Given the description of an element on the screen output the (x, y) to click on. 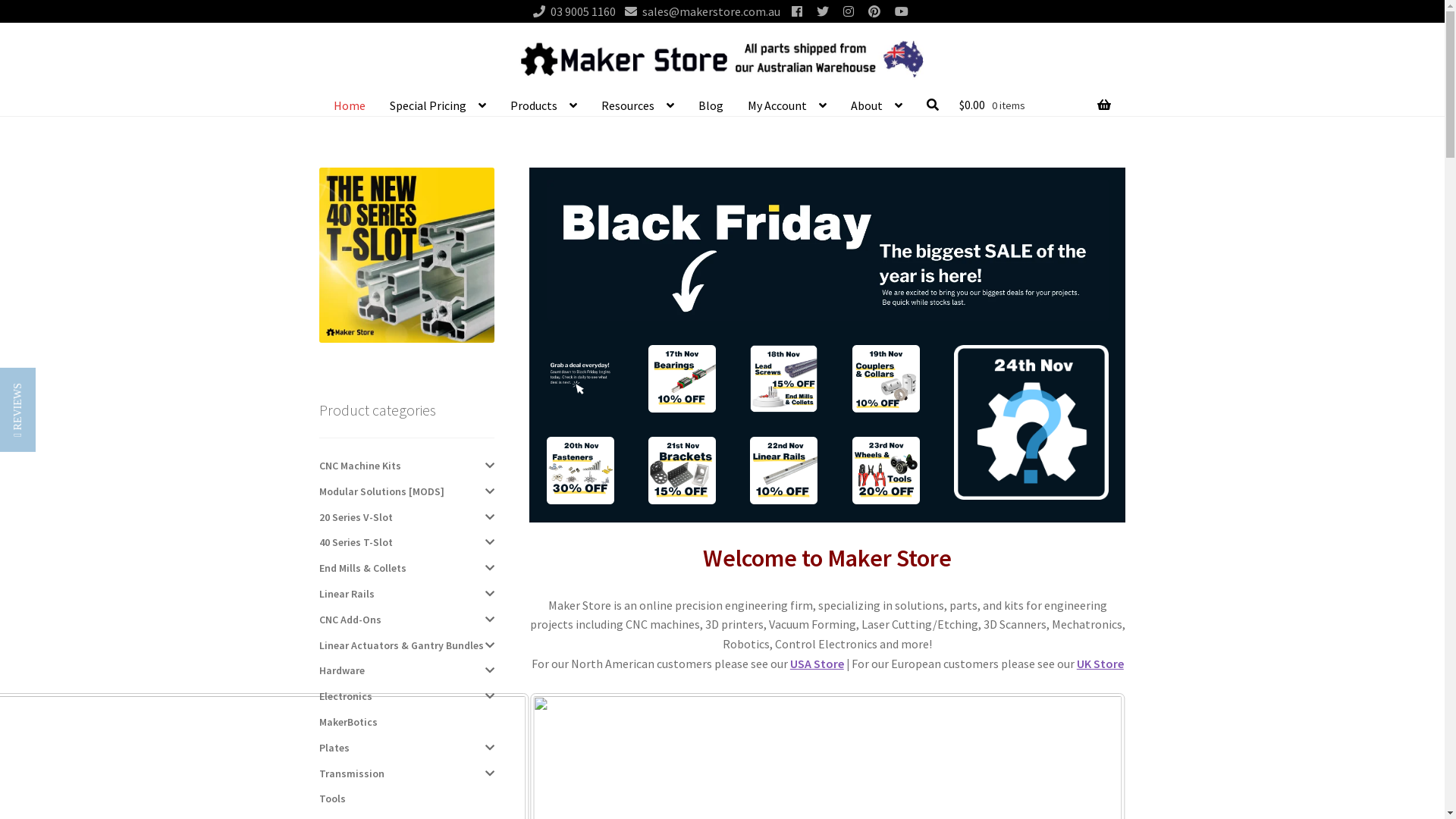
Resources Element type: text (637, 106)
UK Store Element type: text (1099, 663)
Tools Element type: text (332, 798)
Skip to navigation Element type: text (318, 34)
End Mills & Collets Element type: text (362, 567)
20 Series V-Slot Element type: text (355, 517)
Home Element type: text (349, 106)
Blog Element type: text (710, 106)
About Element type: text (876, 106)
40 Series T-Slot Element type: text (355, 542)
03 9005 1160 Element type: text (571, 10)
MakerBotics Element type: text (348, 721)
$0.00 0 items Element type: text (1034, 105)
Linear Actuators & Gantry Bundles Element type: text (401, 645)
Plates Element type: text (334, 747)
Modular Solutions [MODS] Element type: text (381, 491)
Products Element type: text (543, 106)
Linear Rails Element type: text (346, 593)
CNC Add-Ons Element type: text (350, 619)
Special Pricing Element type: text (437, 106)
My Account Element type: text (786, 106)
Hardware Element type: text (341, 670)
CNC Machine Kits Element type: text (360, 465)
sales@makerstore.com.au Element type: text (698, 10)
USA Store Element type: text (817, 663)
Electronics Element type: text (345, 695)
Transmission Element type: text (351, 773)
